Given the description of an element on the screen output the (x, y) to click on. 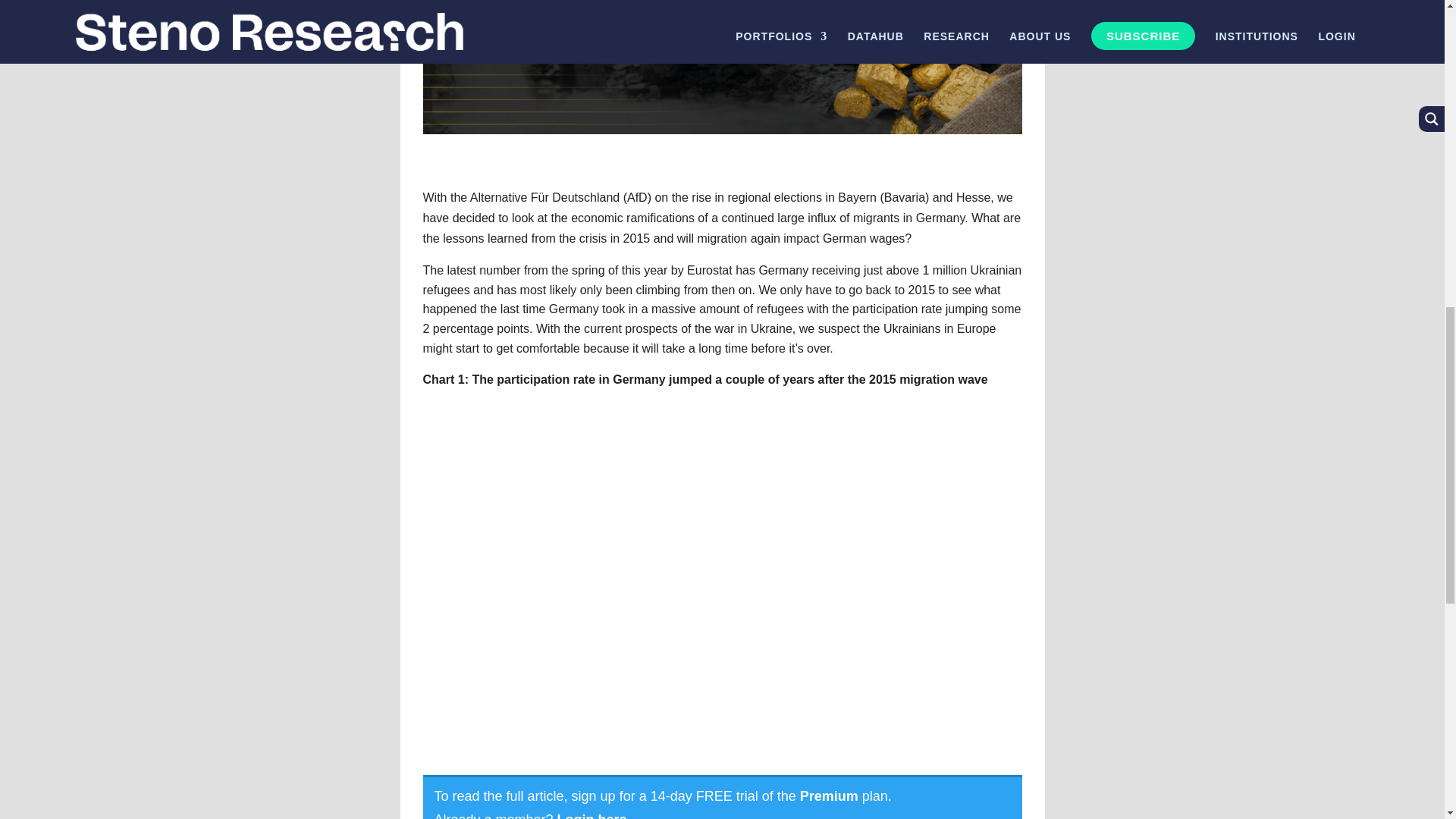
Nuggets (722, 67)
Login here (592, 815)
Premium (829, 795)
